Given the description of an element on the screen output the (x, y) to click on. 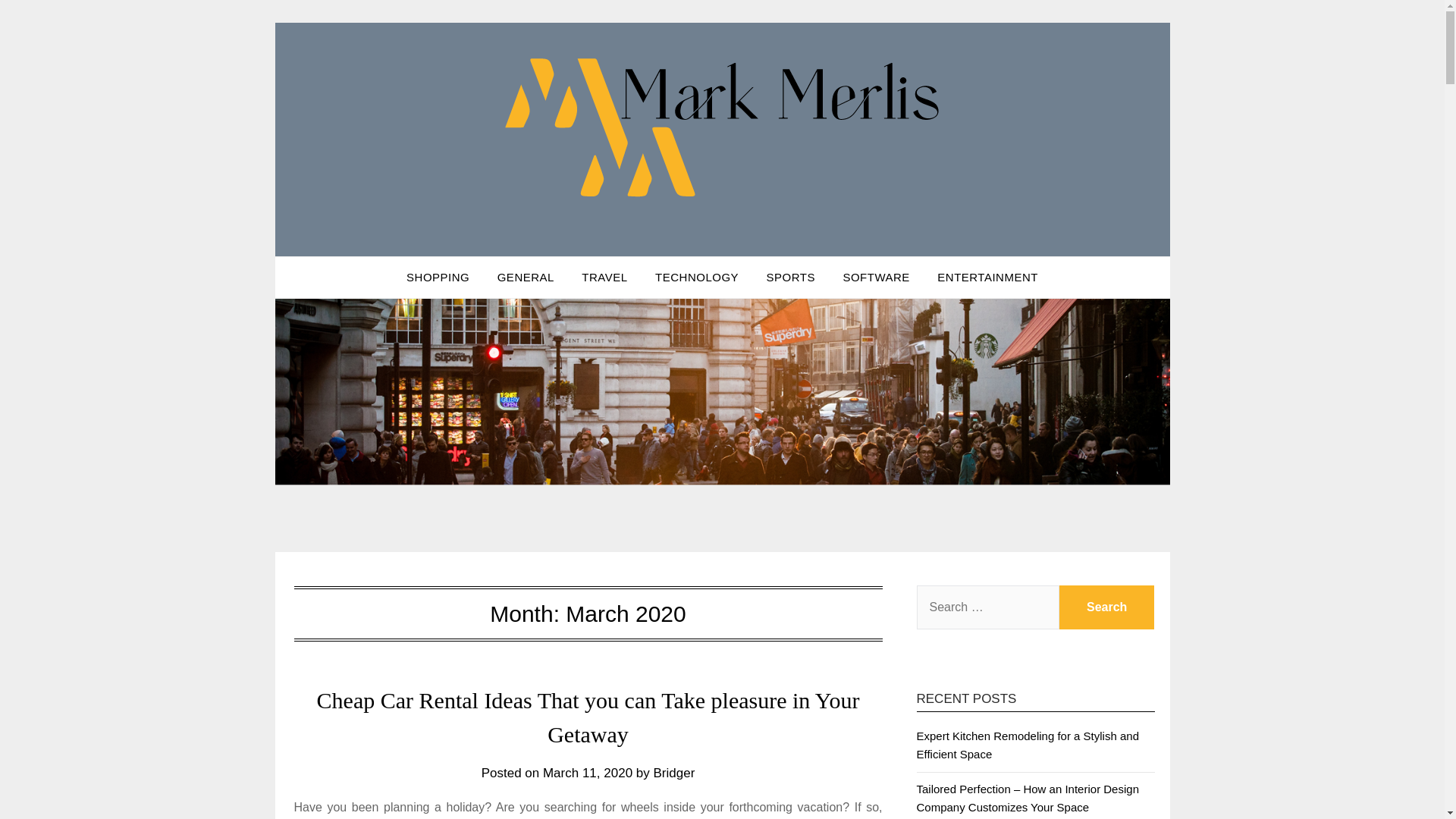
Search (1106, 607)
March 11, 2020 (587, 772)
SPORTS (790, 277)
SOFTWARE (875, 277)
Bridger (674, 772)
SHOPPING (437, 277)
Search (1106, 607)
GENERAL (525, 277)
TRAVEL (604, 277)
